Given the description of an element on the screen output the (x, y) to click on. 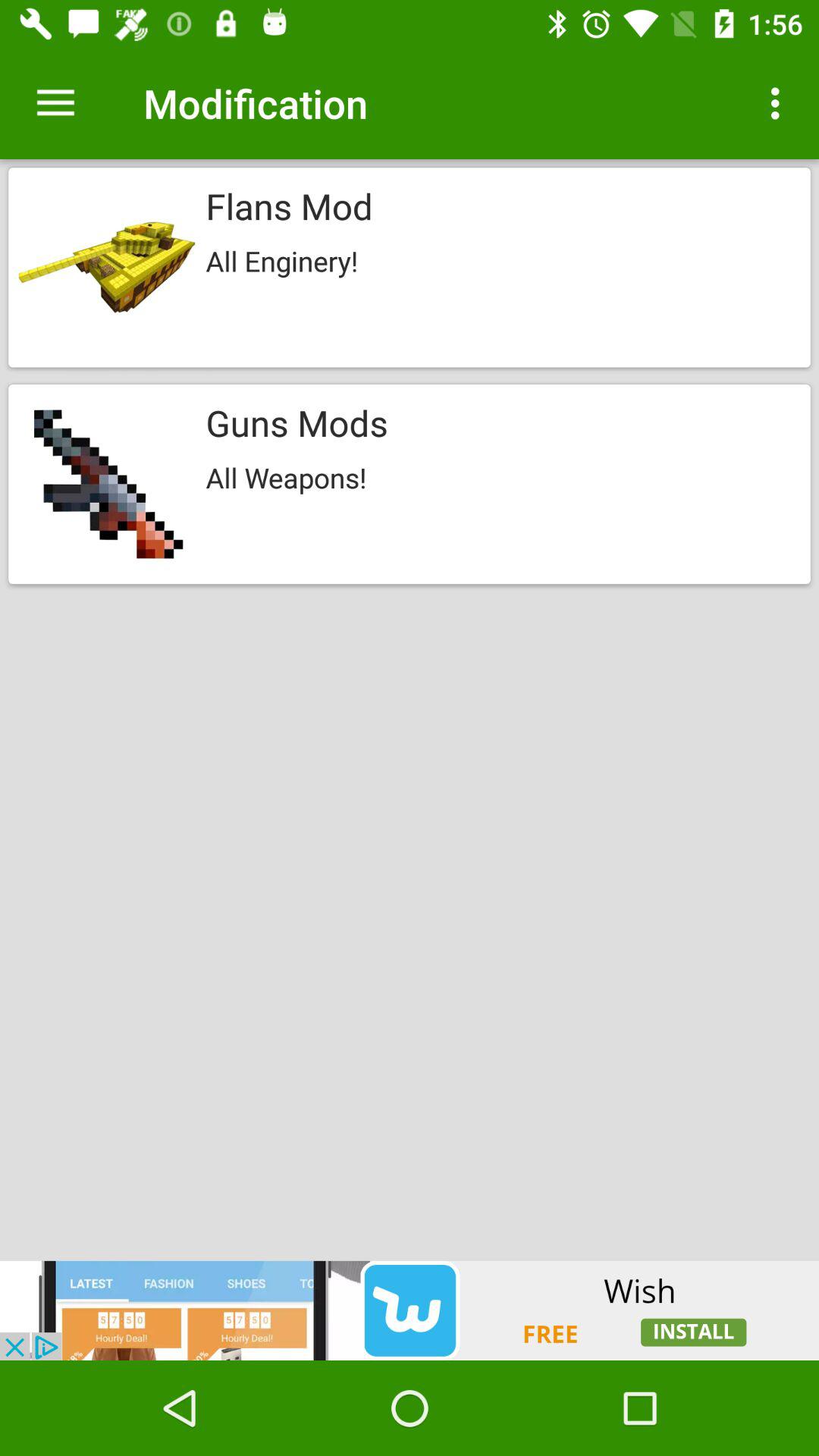
advertisement (409, 1310)
